Given the description of an element on the screen output the (x, y) to click on. 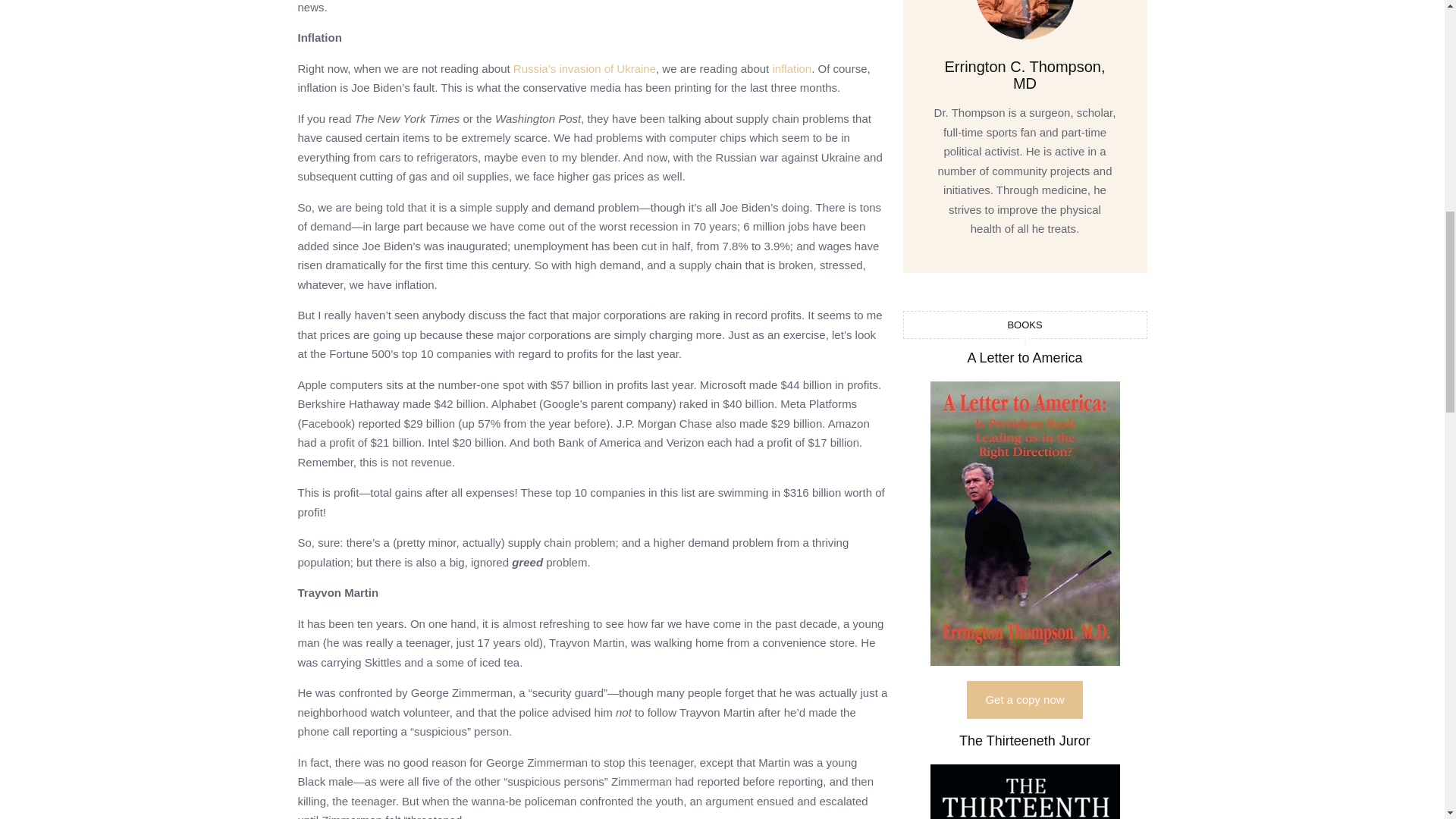
Get a copy now (1023, 699)
inflation (790, 68)
